Given the description of an element on the screen output the (x, y) to click on. 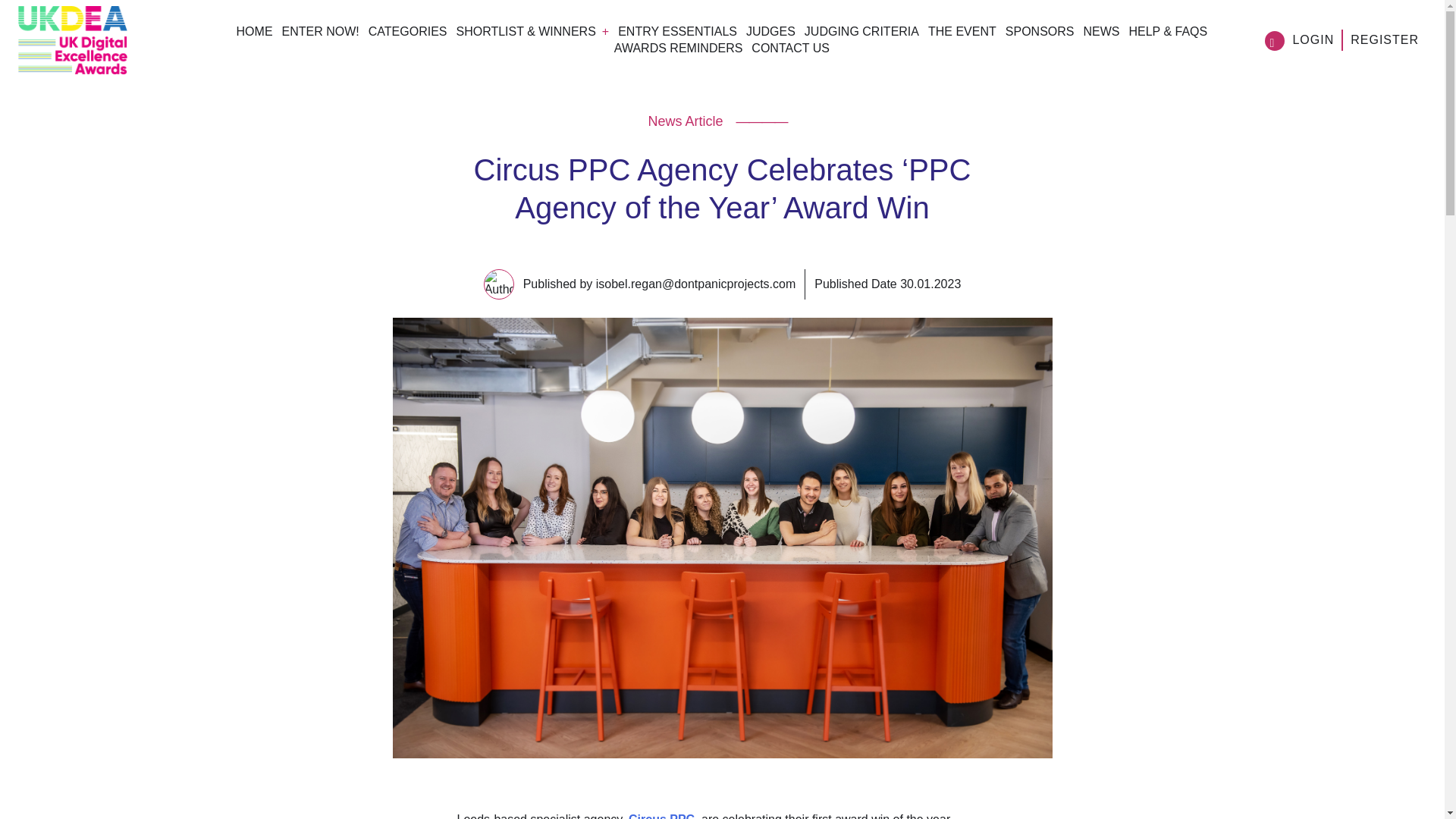
AWARDS REMINDERS (678, 48)
NEWS (1101, 31)
ENTRY ESSENTIALS (676, 31)
CATEGORIES (407, 31)
REGISTER (1384, 38)
JUDGING CRITERIA (861, 31)
JUDGES (769, 31)
ENTER NOW! (320, 31)
SPONSORS (1040, 31)
HOME (254, 31)
